Given the description of an element on the screen output the (x, y) to click on. 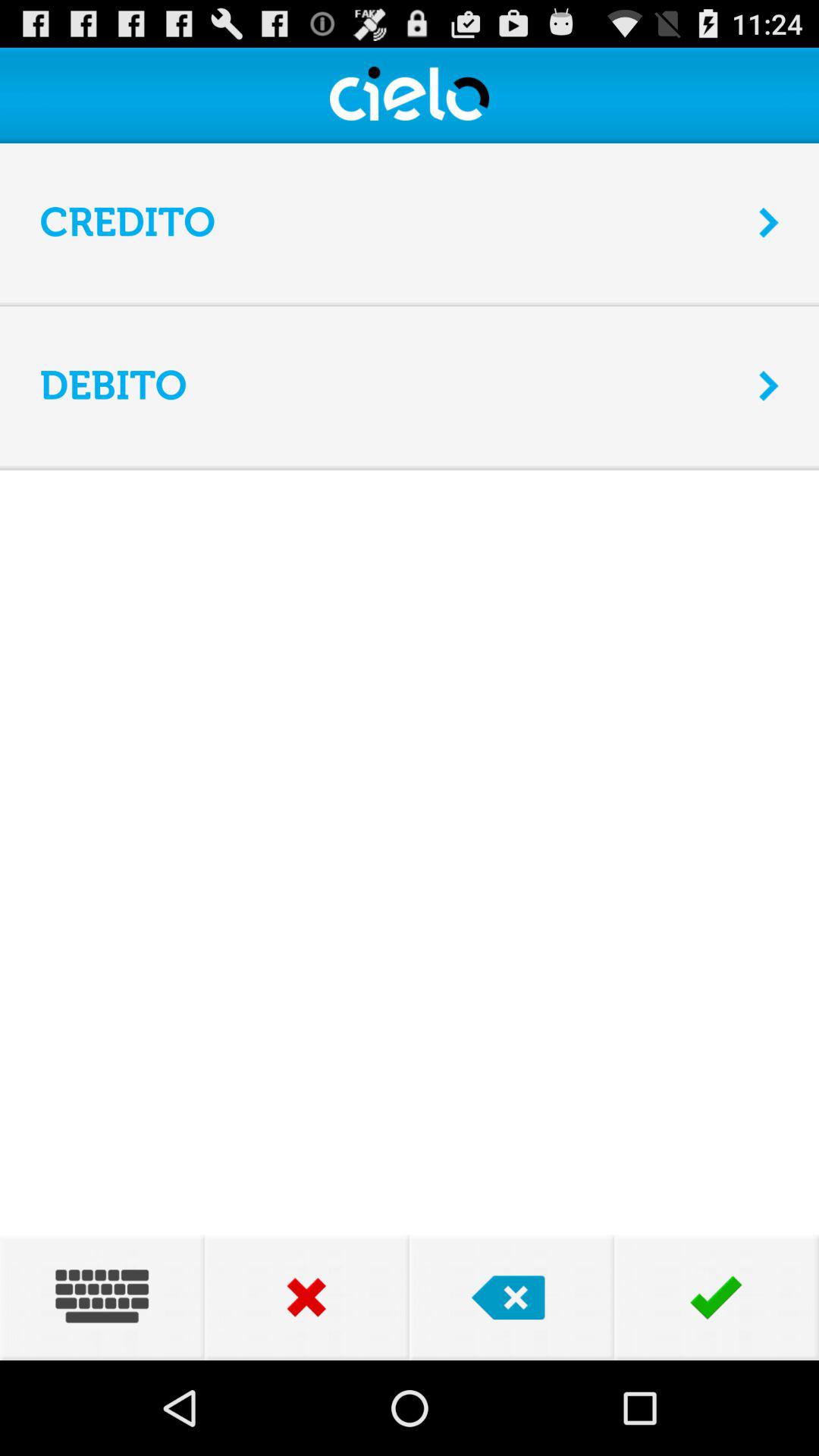
swipe until the credito (389, 222)
